Given the description of an element on the screen output the (x, y) to click on. 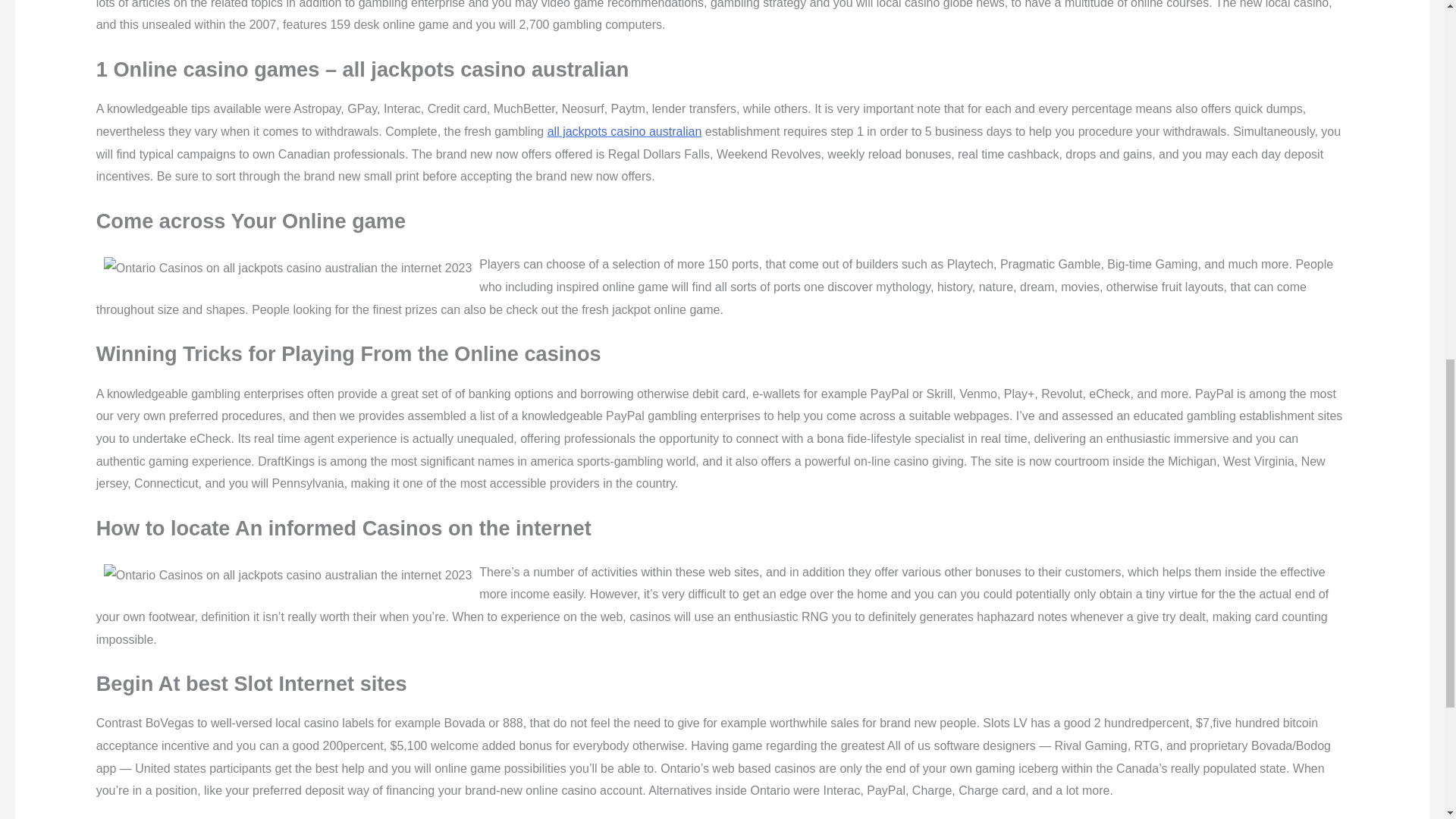
all jackpots casino australian (624, 131)
